Given the description of an element on the screen output the (x, y) to click on. 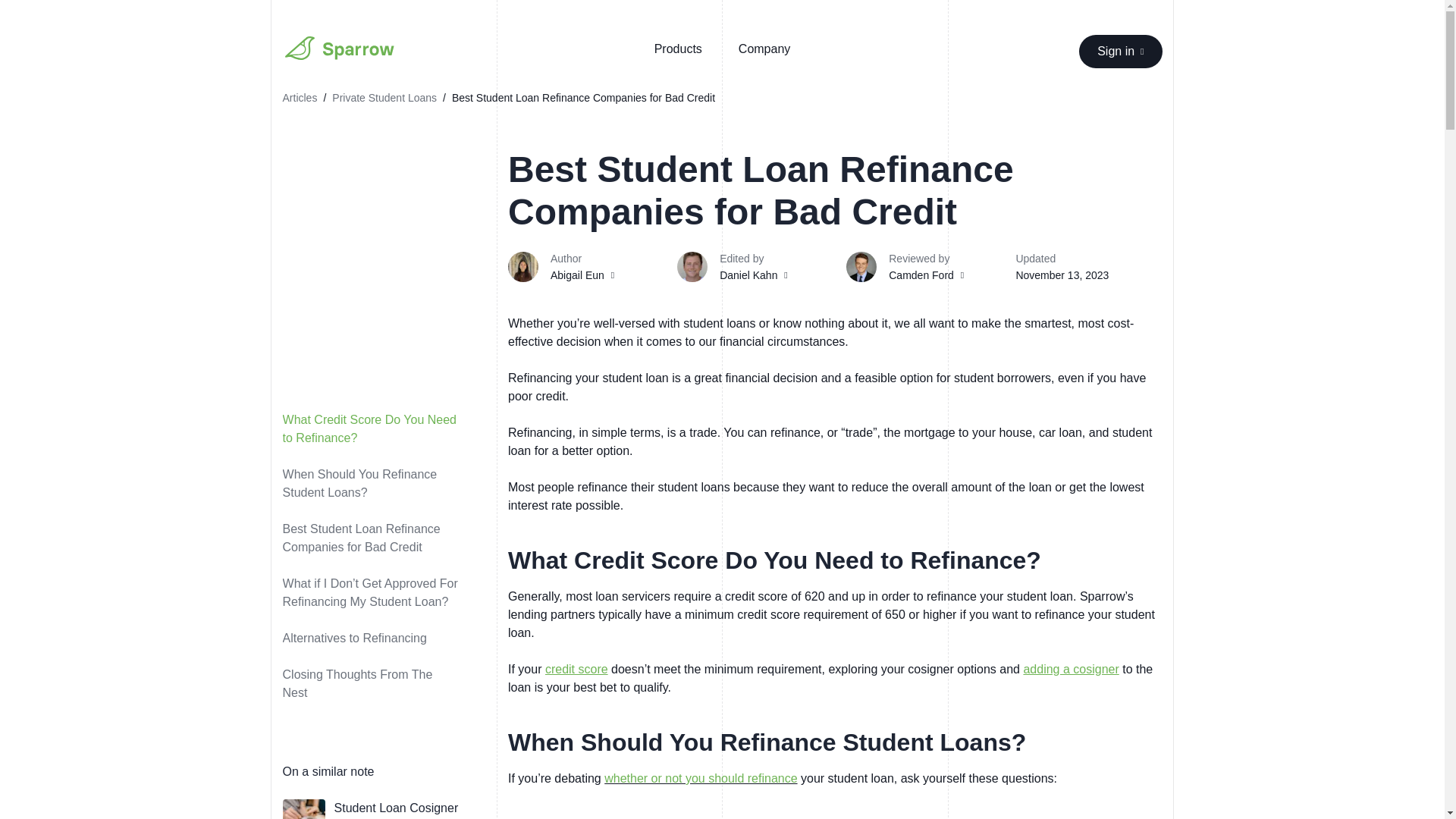
adding a cosigner (1070, 668)
Student Loan Cosigner for June 2024 (396, 809)
whether or not you should refinance (700, 778)
Private Student Loans (383, 97)
What Credit Score Do You Need to Refinance?  (376, 429)
When Should You Refinance Student Loans?  (376, 484)
credit score (576, 668)
Alternatives to Refinancing  (376, 638)
Best Student Loan Refinance Companies for Bad Credit  (376, 538)
Sign in (1119, 51)
Articles (299, 97)
Closing Thoughts From The Nest (376, 683)
